Given the description of an element on the screen output the (x, y) to click on. 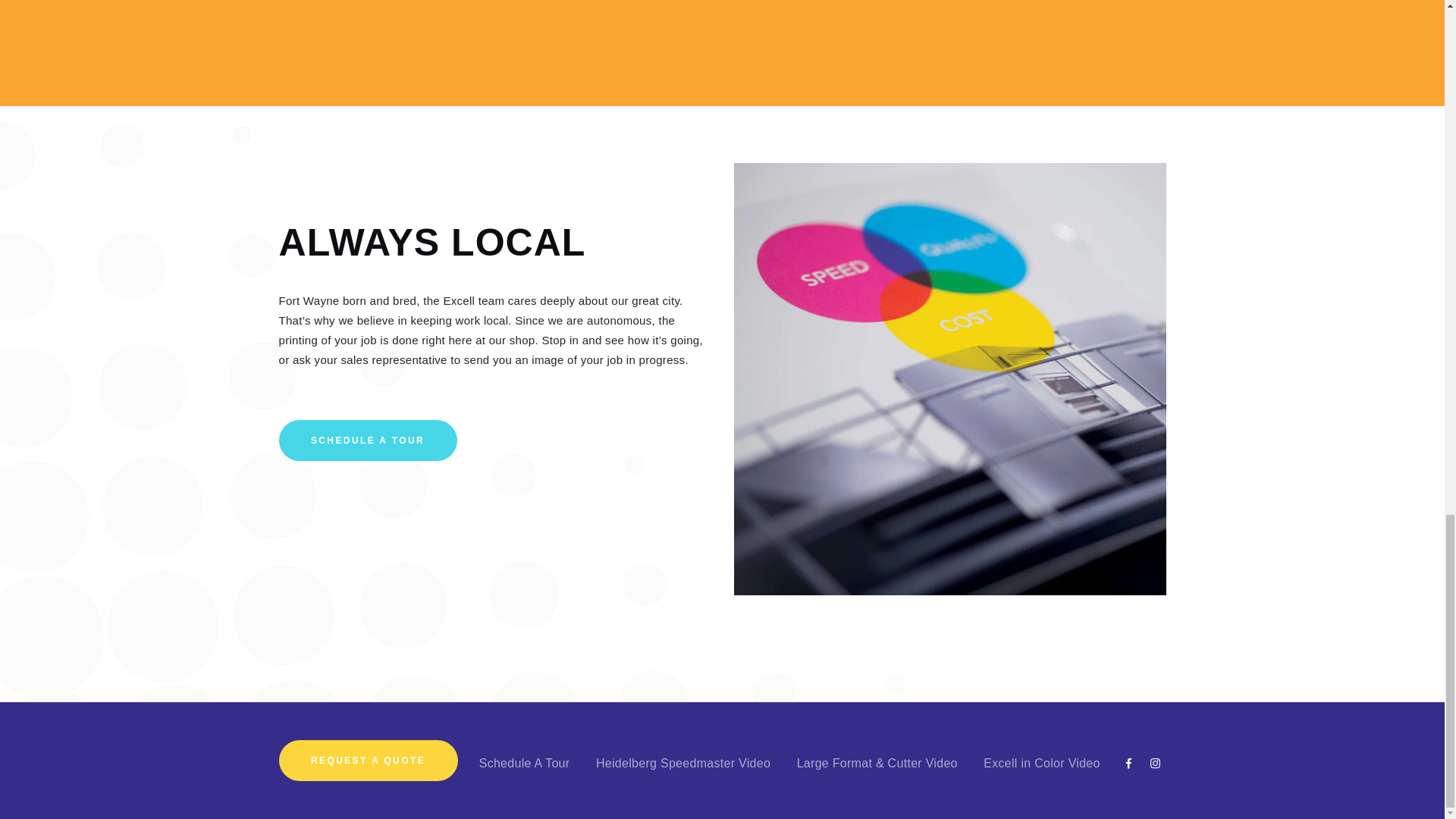
Schedule A Tour (524, 762)
Heidelberg Speedmaster Video (682, 762)
SCHEDULE A TOUR (368, 440)
REQUEST A QUOTE (368, 760)
Excell in Color Video (1042, 762)
